Given the description of an element on the screen output the (x, y) to click on. 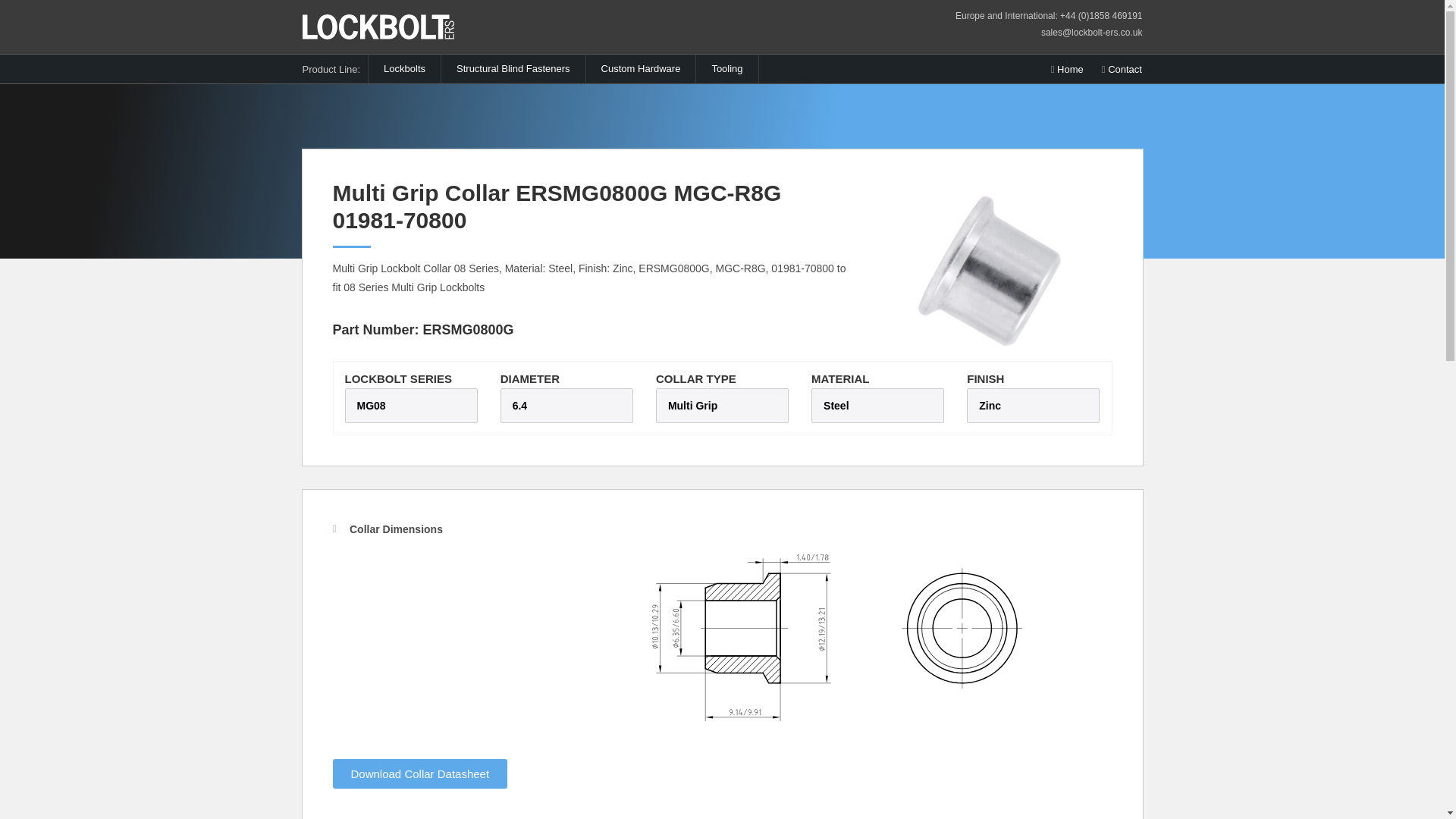
Lockbolts (404, 68)
Download Collar Datasheet (418, 773)
 Contact (1121, 68)
Structural Blind Fasteners (513, 68)
6.4 (519, 405)
Zinc (989, 405)
Tooling (726, 68)
Custom Hardware (640, 68)
Steel (836, 405)
MG08 (370, 405)
Multi Grip (692, 405)
 Home (1067, 68)
